Given the description of an element on the screen output the (x, y) to click on. 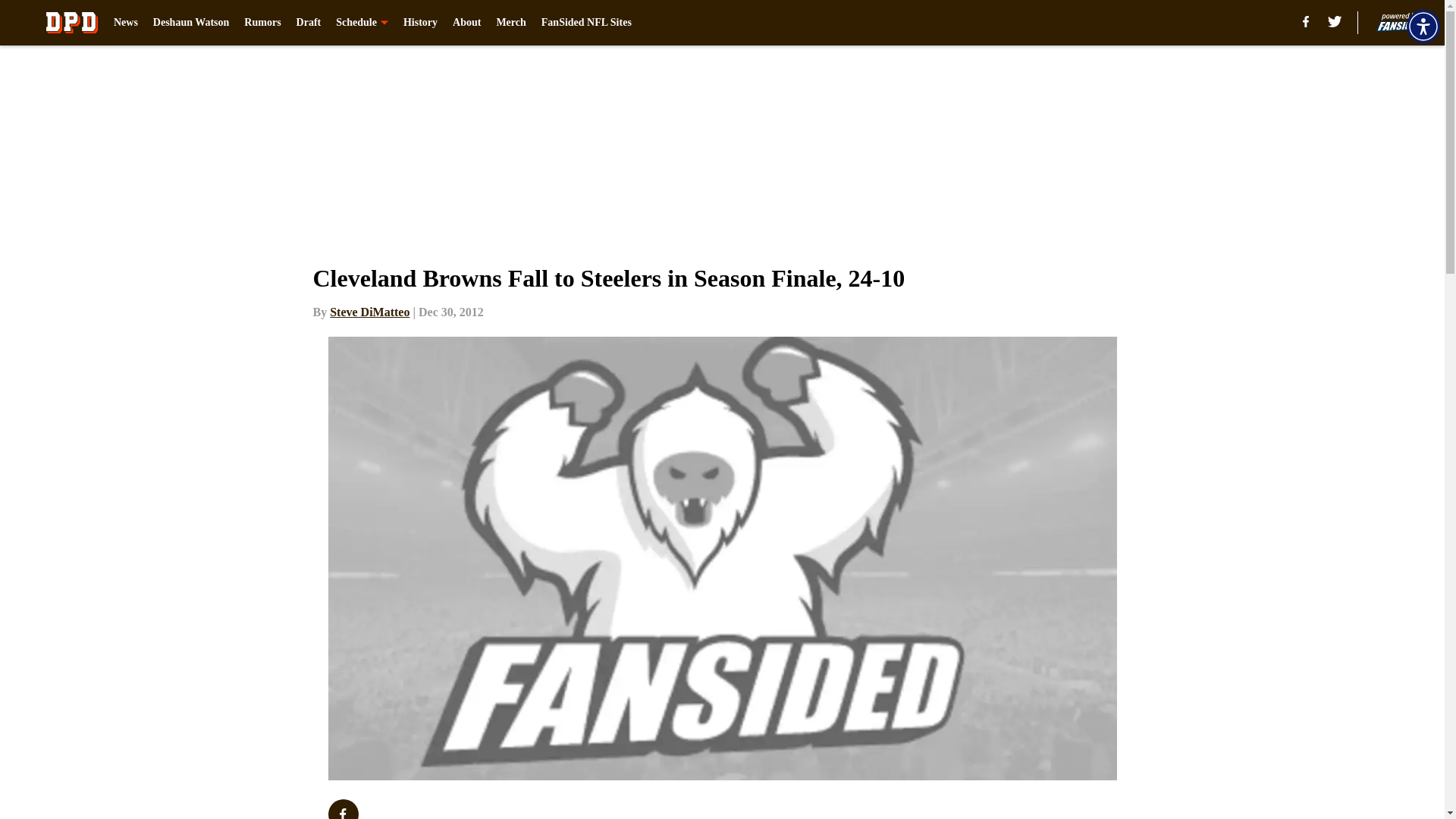
FanSided NFL Sites (586, 22)
Deshaun Watson (191, 22)
History (420, 22)
Steve DiMatteo (369, 311)
Rumors (262, 22)
Accessibility Menu (1422, 26)
Merch (510, 22)
News (125, 22)
About (466, 22)
Draft (309, 22)
